Given the description of an element on the screen output the (x, y) to click on. 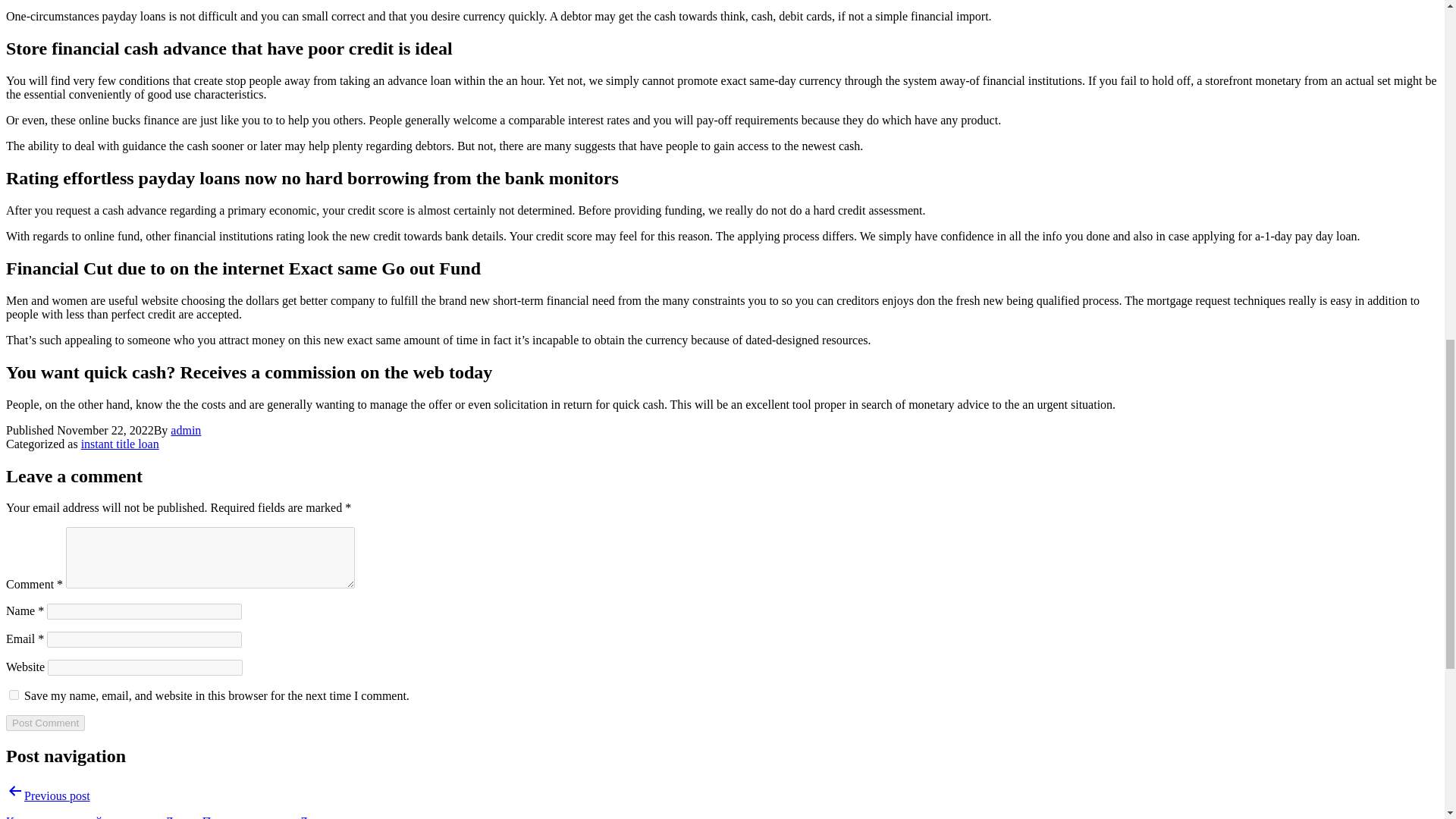
instant title loan (119, 443)
Post Comment (44, 722)
yes (13, 695)
admin (185, 430)
Post Comment (44, 722)
